Given the description of an element on the screen output the (x, y) to click on. 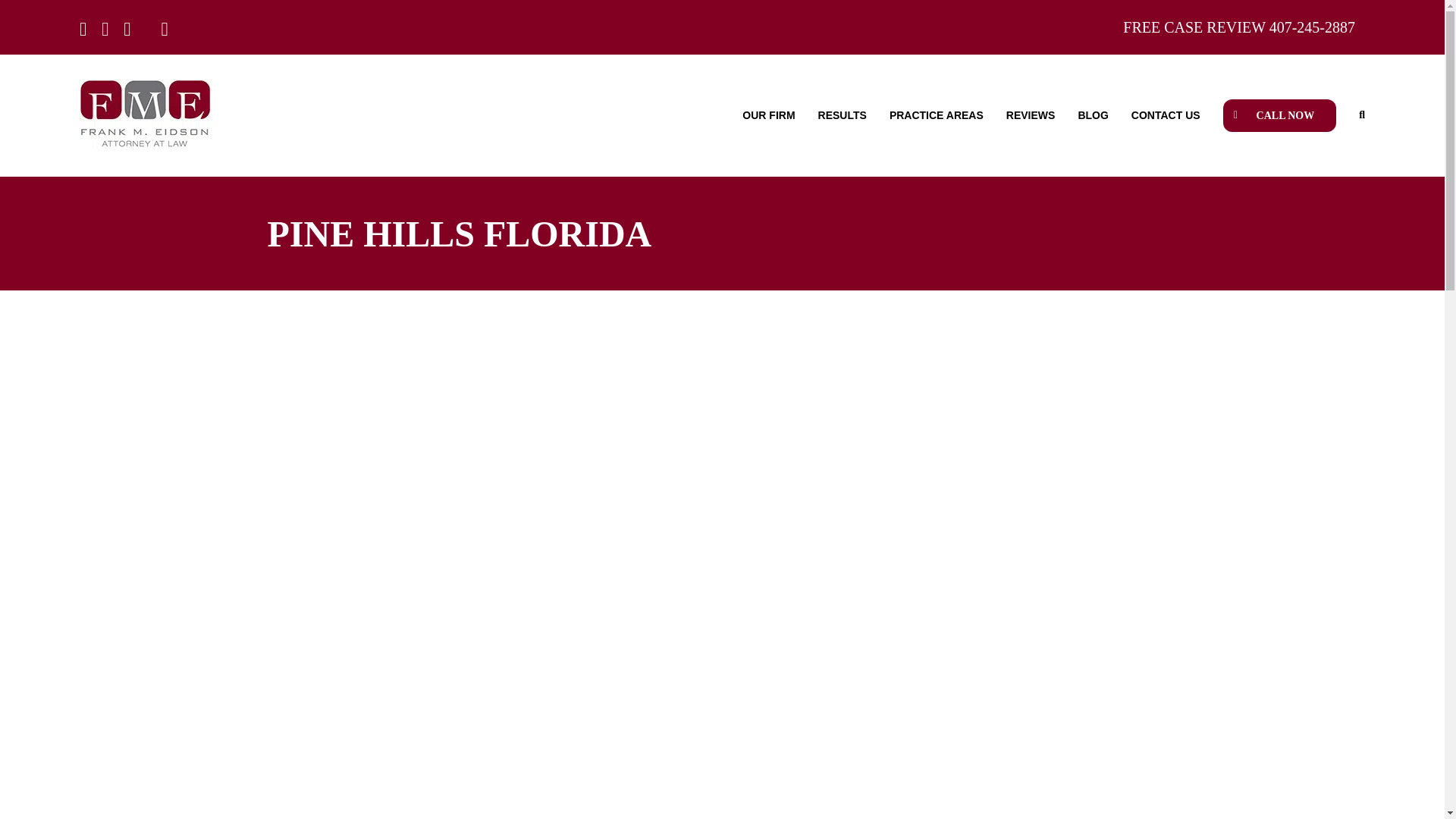
FREE CASE REVIEW 407-245-2887 (1239, 26)
